Given the description of an element on the screen output the (x, y) to click on. 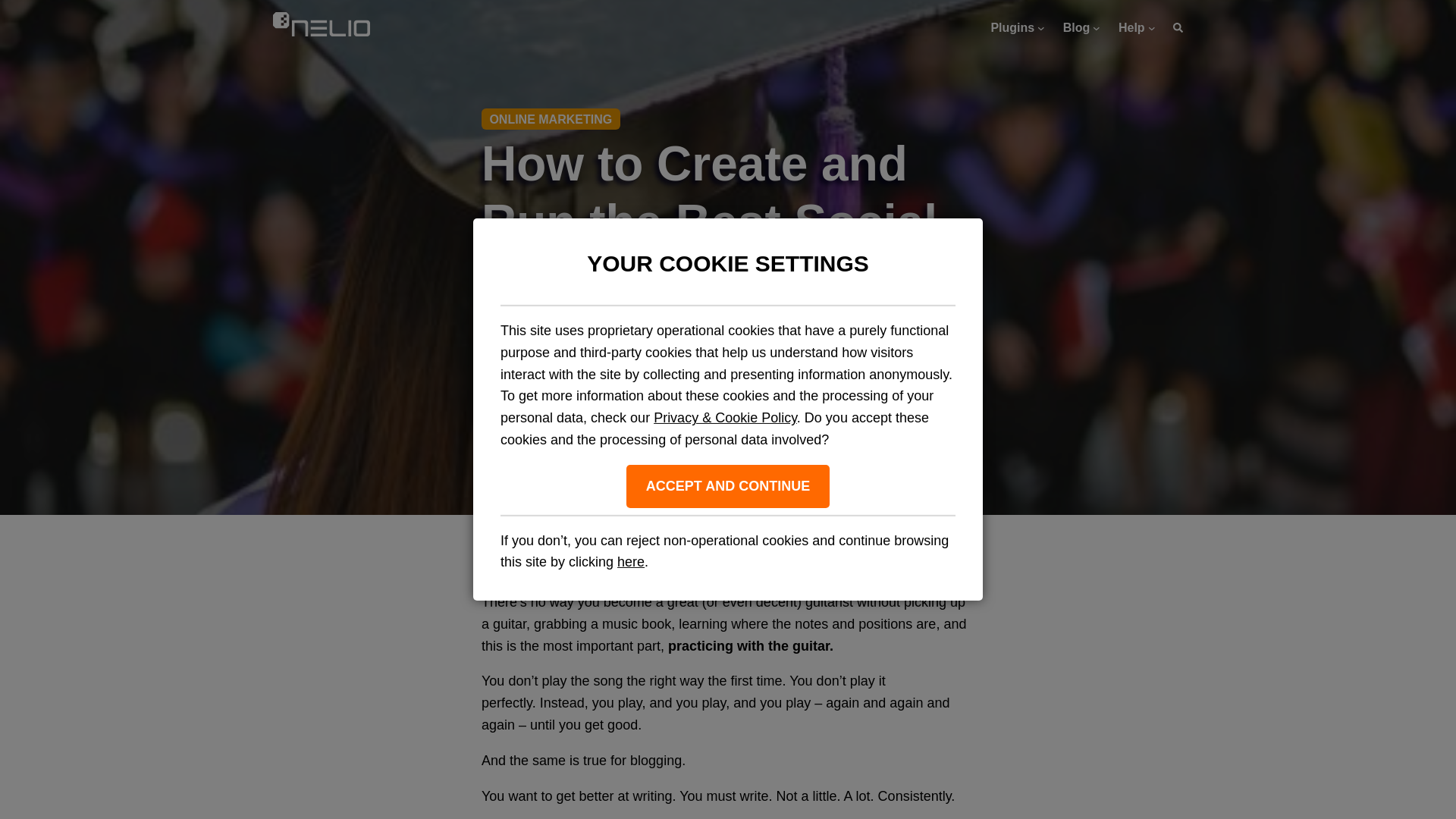
CONTENT MARKETING (544, 420)
Help (1131, 27)
Plugins (1011, 27)
As the great Chris Lema told us in one of his posts (633, 561)
ONLINE MARKETING (550, 118)
Search (1177, 27)
Blog (1076, 27)
MARKETING STRATEGY (675, 420)
SOCIAL MEDIA (787, 420)
David Aguilera (689, 383)
